Given the description of an element on the screen output the (x, y) to click on. 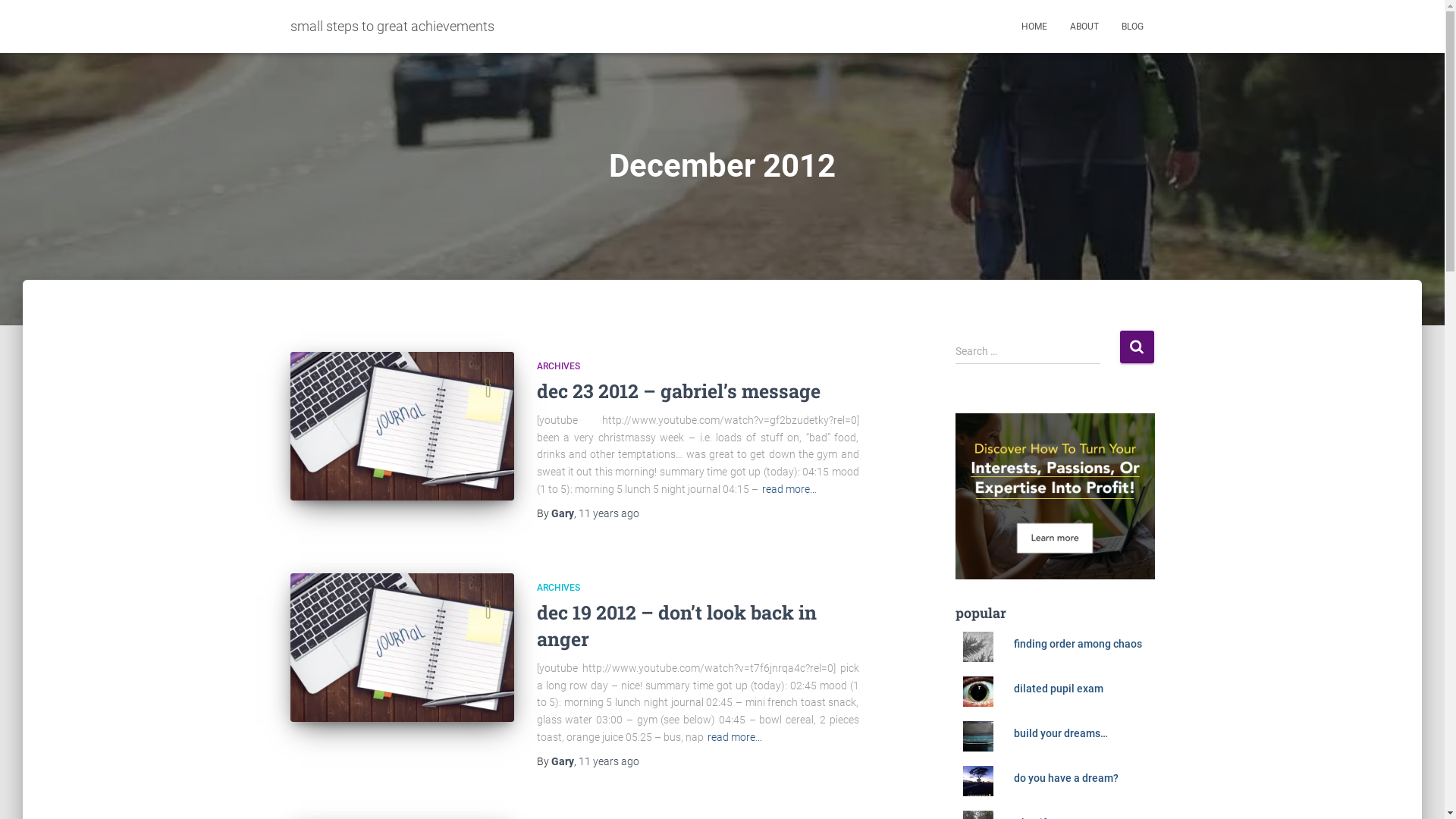
11 years ago Element type: text (607, 761)
Search Element type: text (1136, 346)
finding order among chaos Element type: text (1077, 643)
Gary Element type: text (561, 761)
HOME Element type: text (1034, 26)
Gary Element type: text (561, 513)
ABOUT Element type: text (1084, 26)
dilated pupil exam Element type: text (1058, 688)
small steps to great achievements Element type: text (392, 26)
ARCHIVES Element type: text (558, 587)
do you have a dream? Element type: text (1065, 777)
11 years ago Element type: text (607, 513)
BLOG Element type: text (1132, 26)
ARCHIVES Element type: text (558, 365)
